Given the description of an element on the screen output the (x, y) to click on. 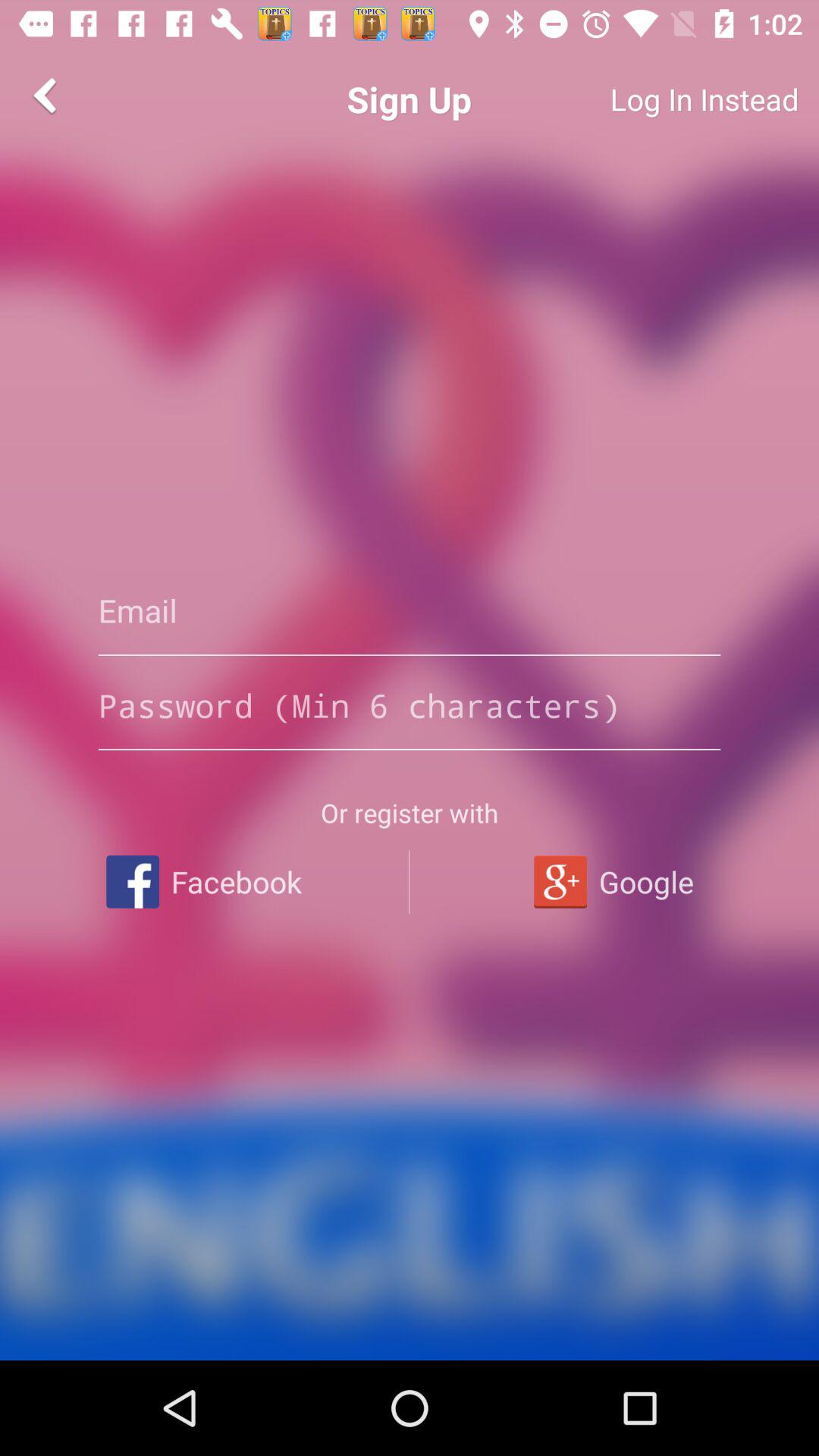
enter email (409, 610)
